Given the description of an element on the screen output the (x, y) to click on. 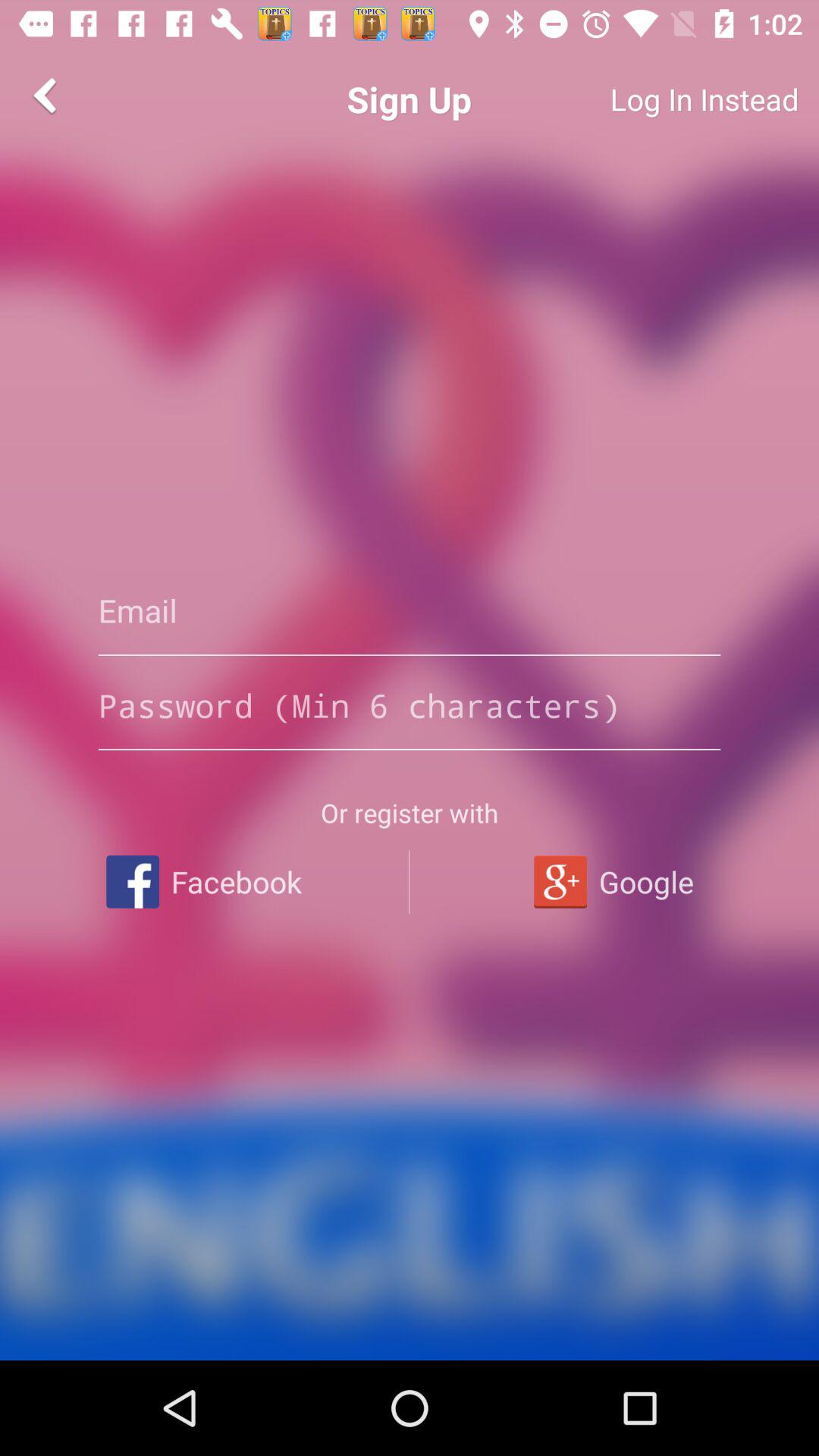
enter email (409, 610)
